Given the description of an element on the screen output the (x, y) to click on. 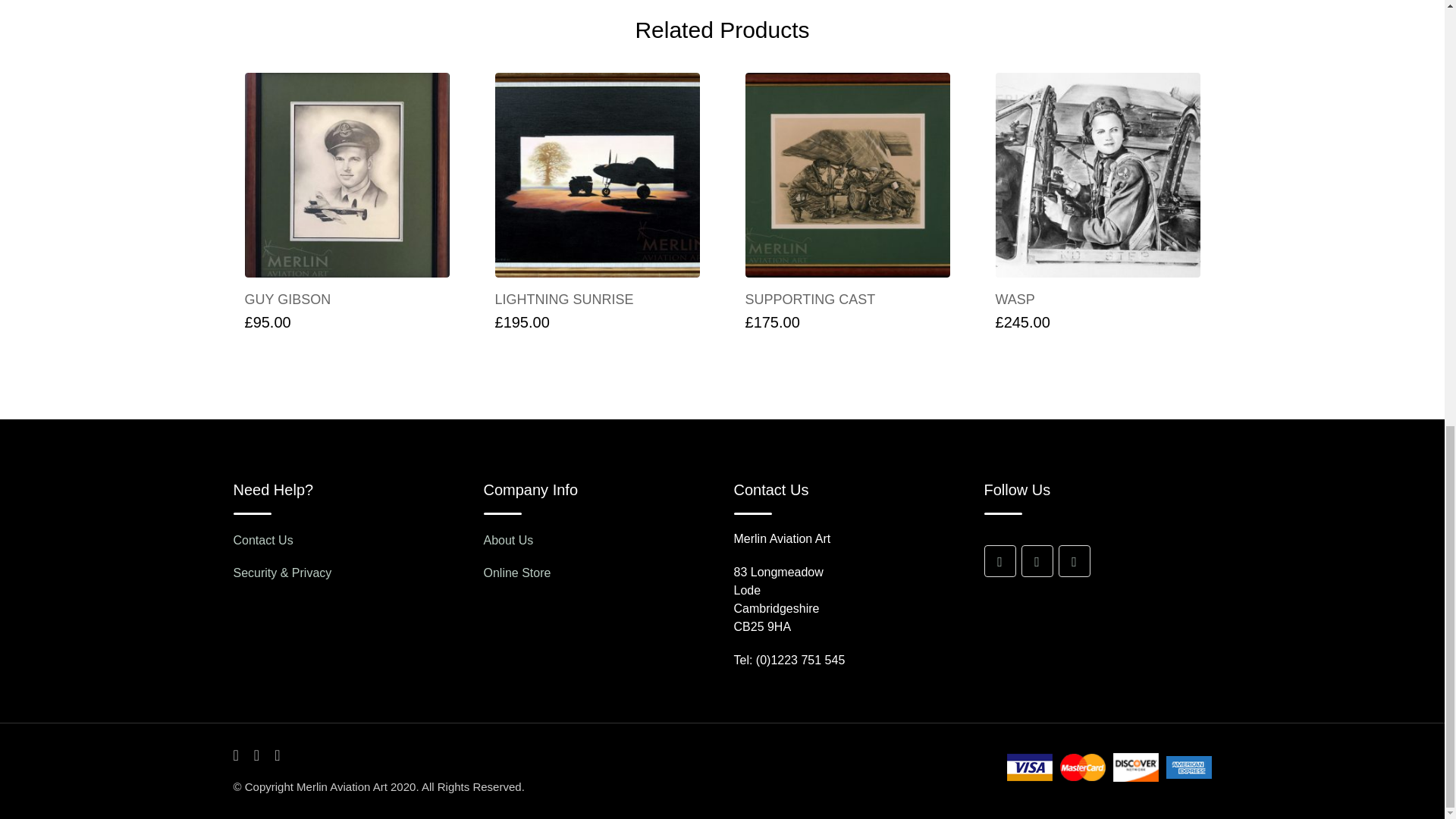
About Us (517, 572)
Contact Us (263, 540)
About Us (508, 540)
